Given the description of an element on the screen output the (x, y) to click on. 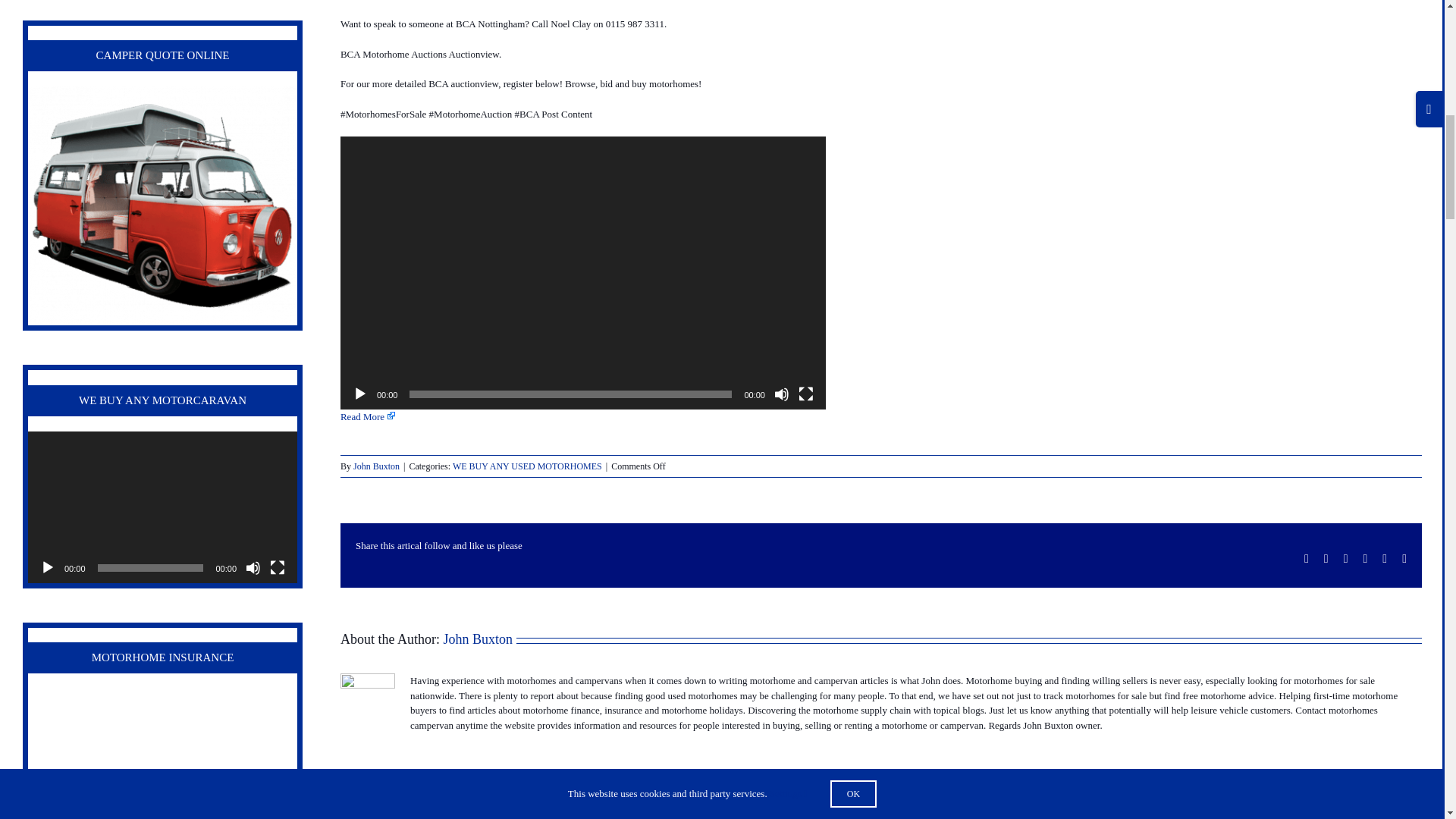
Play (360, 394)
CAMPER QUOTE ONLINE (162, 205)
Posts by John Buxton (375, 466)
Posts by John Buxton (477, 639)
Fullscreen (805, 394)
Mute (781, 394)
